Given the description of an element on the screen output the (x, y) to click on. 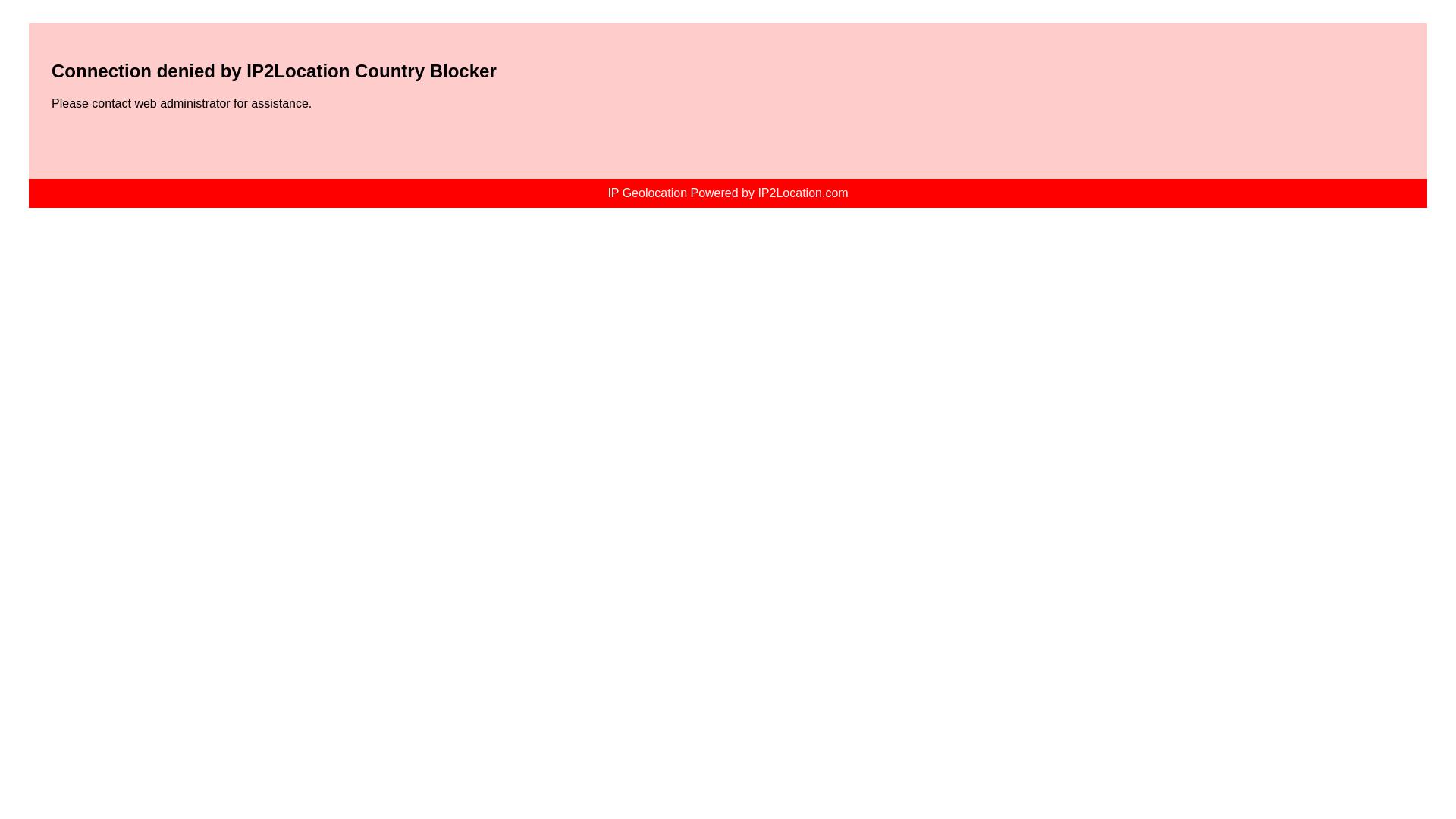
IP Geolocation Powered by IP2Location.com (727, 192)
